Given the description of an element on the screen output the (x, y) to click on. 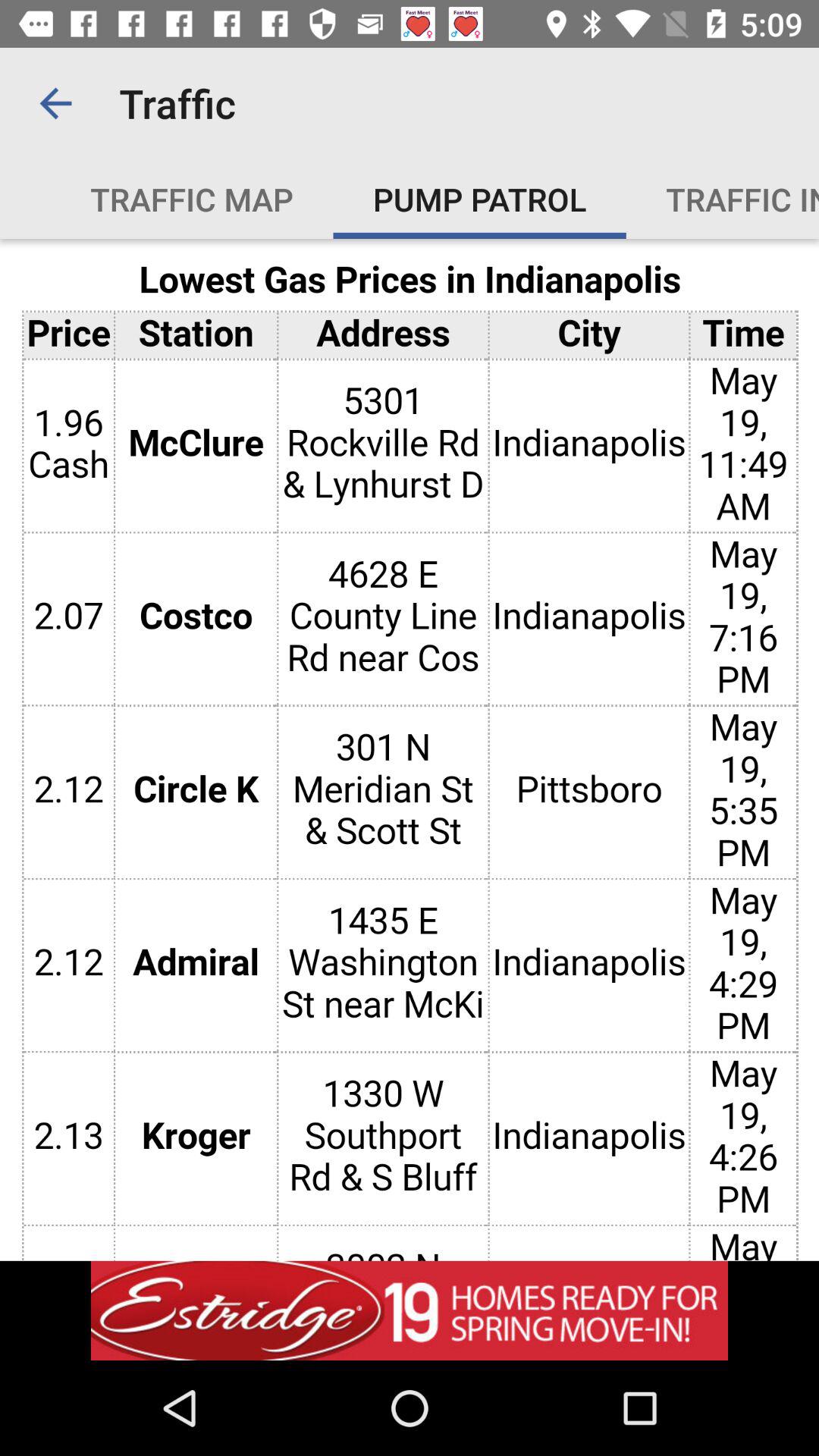
adventisment page (409, 1310)
